Given the description of an element on the screen output the (x, y) to click on. 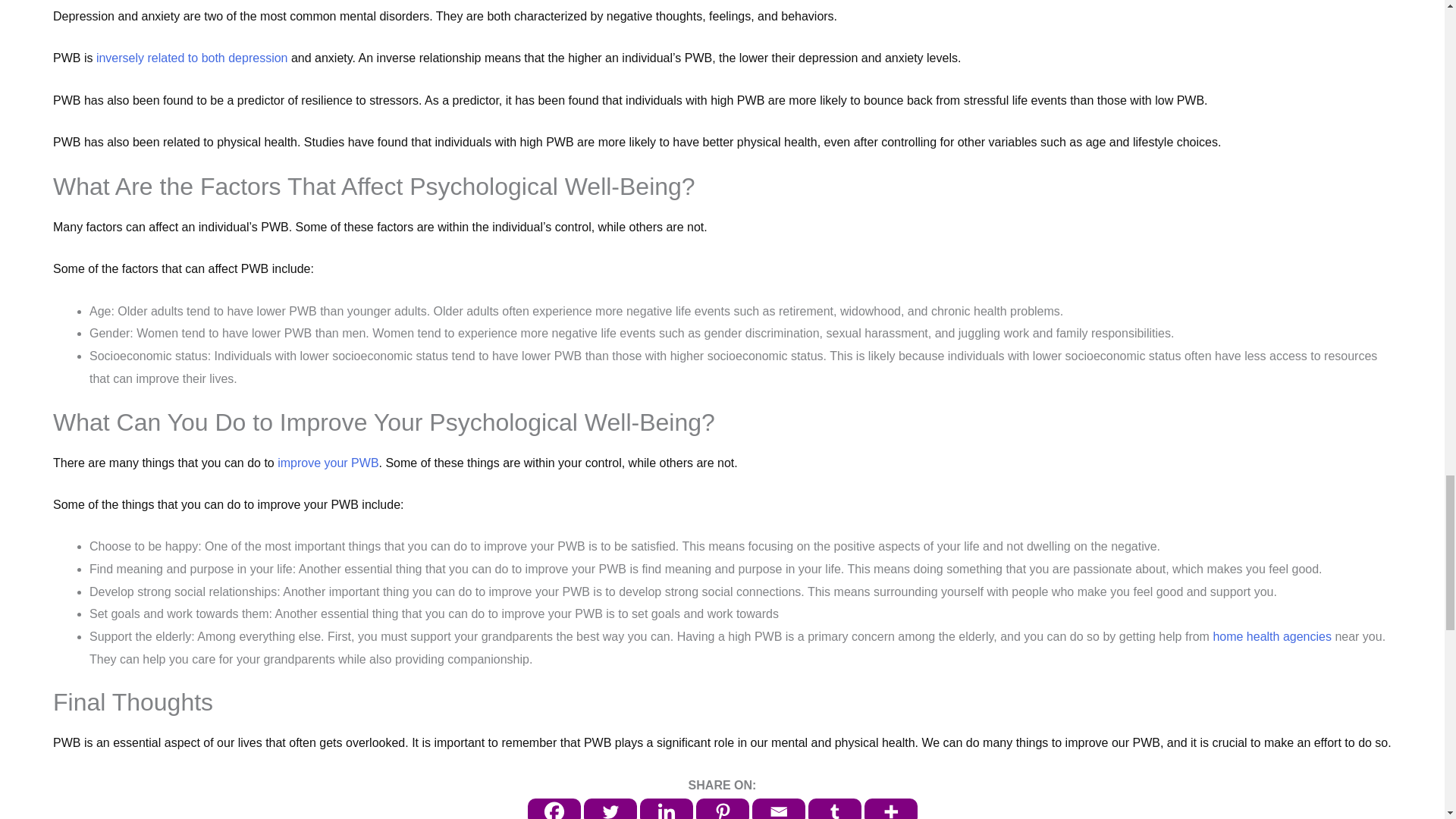
Twitter (610, 808)
inversely related to both depression (192, 57)
Facebook (553, 808)
Tumblr (834, 808)
Linkedin (666, 808)
improve your PWB (326, 462)
Email (778, 808)
Pinterest (722, 808)
More (890, 808)
home health agencies (1272, 635)
